Given the description of an element on the screen output the (x, y) to click on. 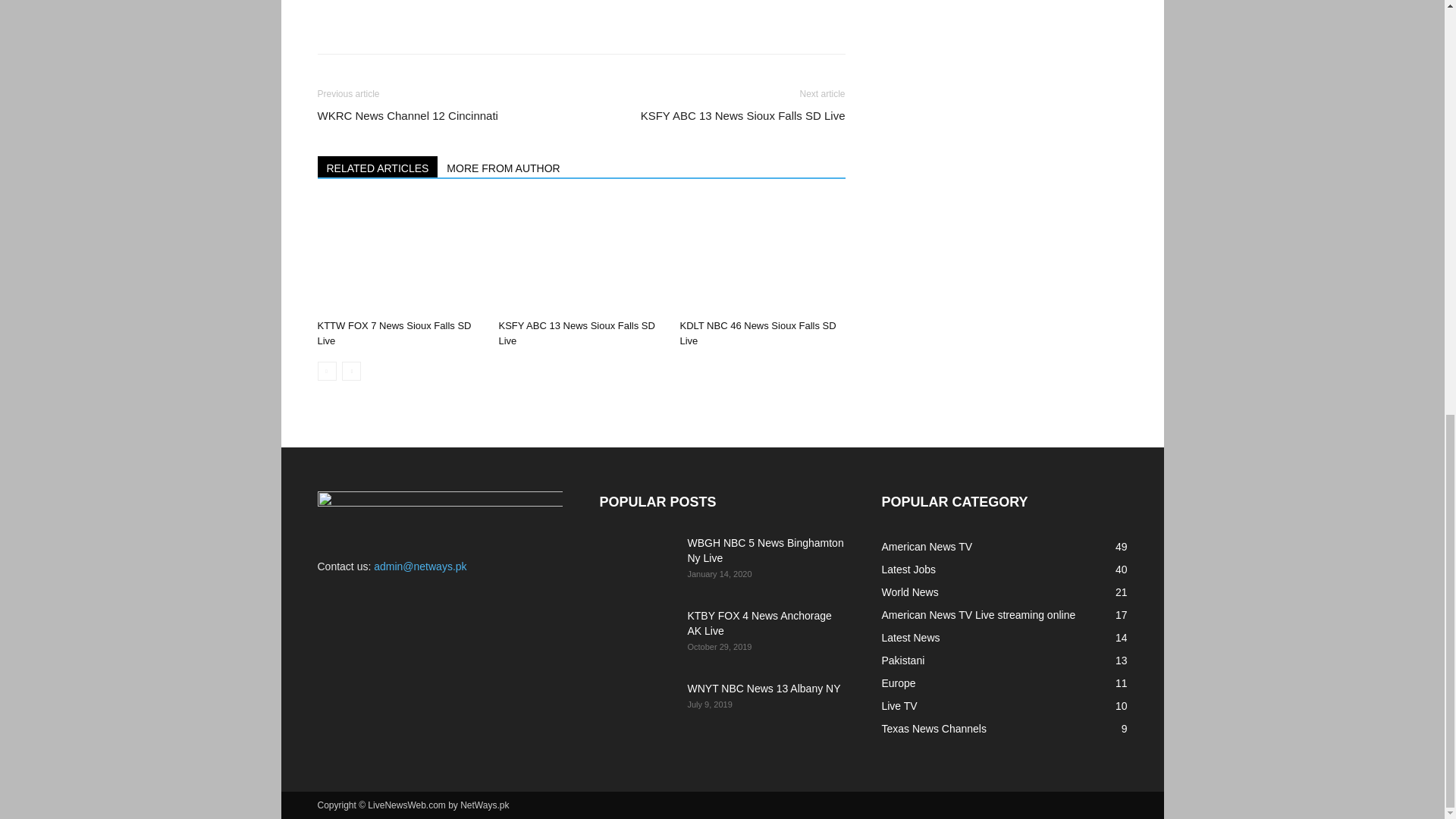
RELATED ARTICLES (377, 166)
KSFY ABC 13 News Sioux Falls SD Live (742, 115)
WKRC News Channel 12 Cincinnati (407, 115)
KTTW FOX 7 News Sioux Falls SD Live (393, 333)
MORE FROM AUTHOR (503, 166)
